Given the description of an element on the screen output the (x, y) to click on. 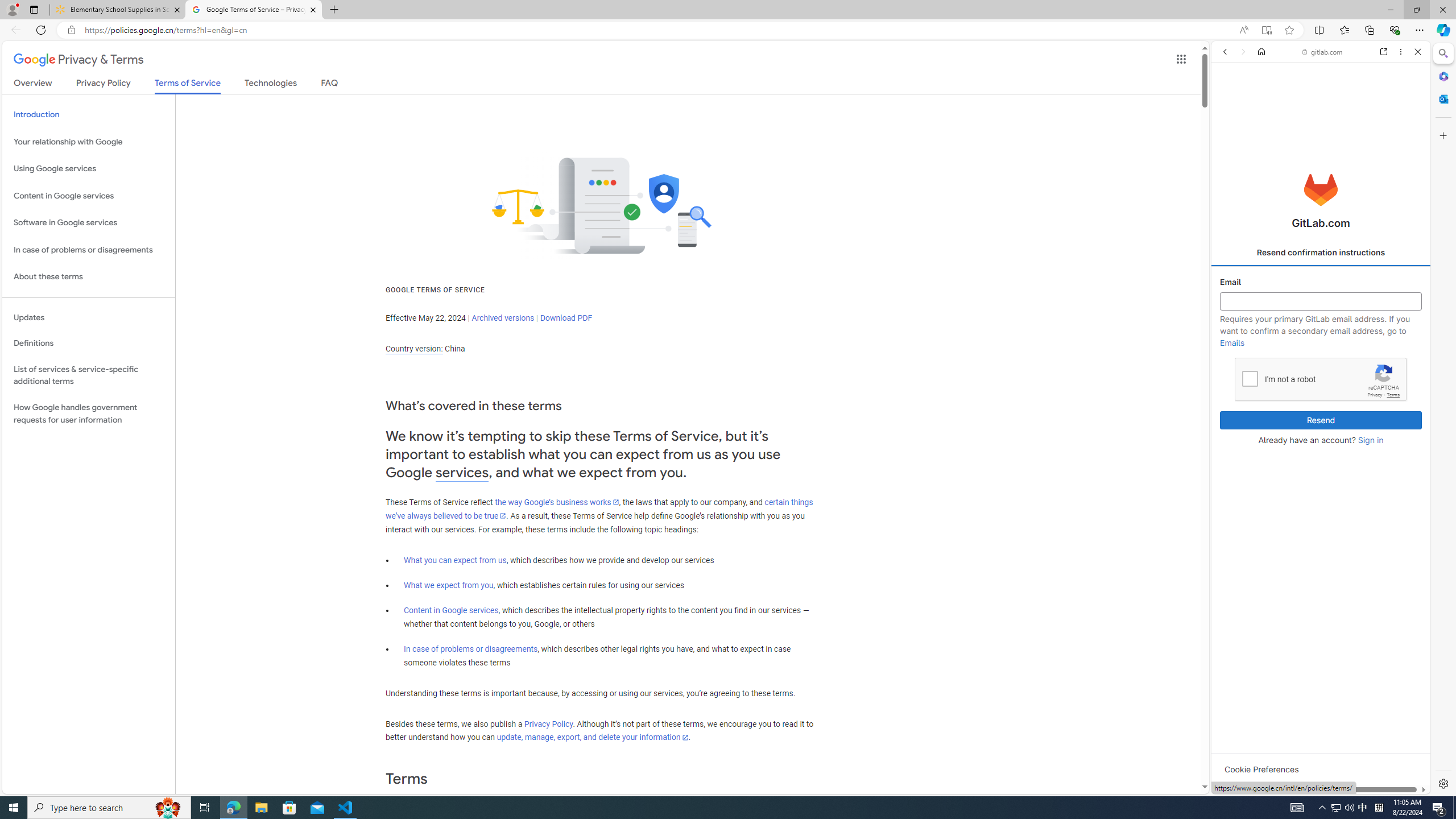
Privacy & Terms (78, 60)
Cookie Preferences (1261, 769)
Resend (1321, 420)
Country version: (413, 348)
Your relationship with Google (88, 141)
Download PDF (566, 317)
Search Filter, ALL (1228, 129)
Close Search pane (1442, 53)
